Given the description of an element on the screen output the (x, y) to click on. 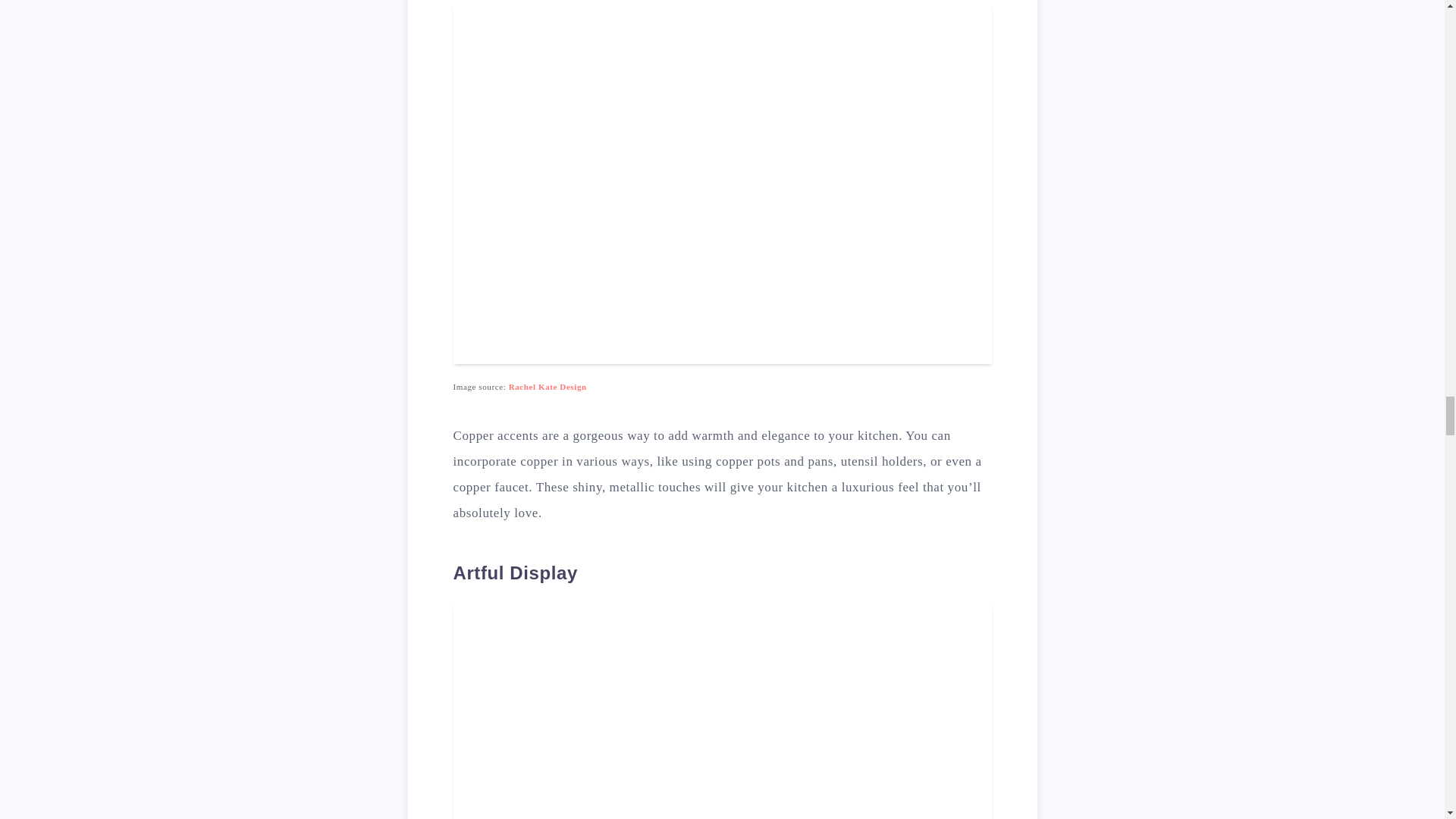
Rachel Kate Design (547, 386)
